Given the description of an element on the screen output the (x, y) to click on. 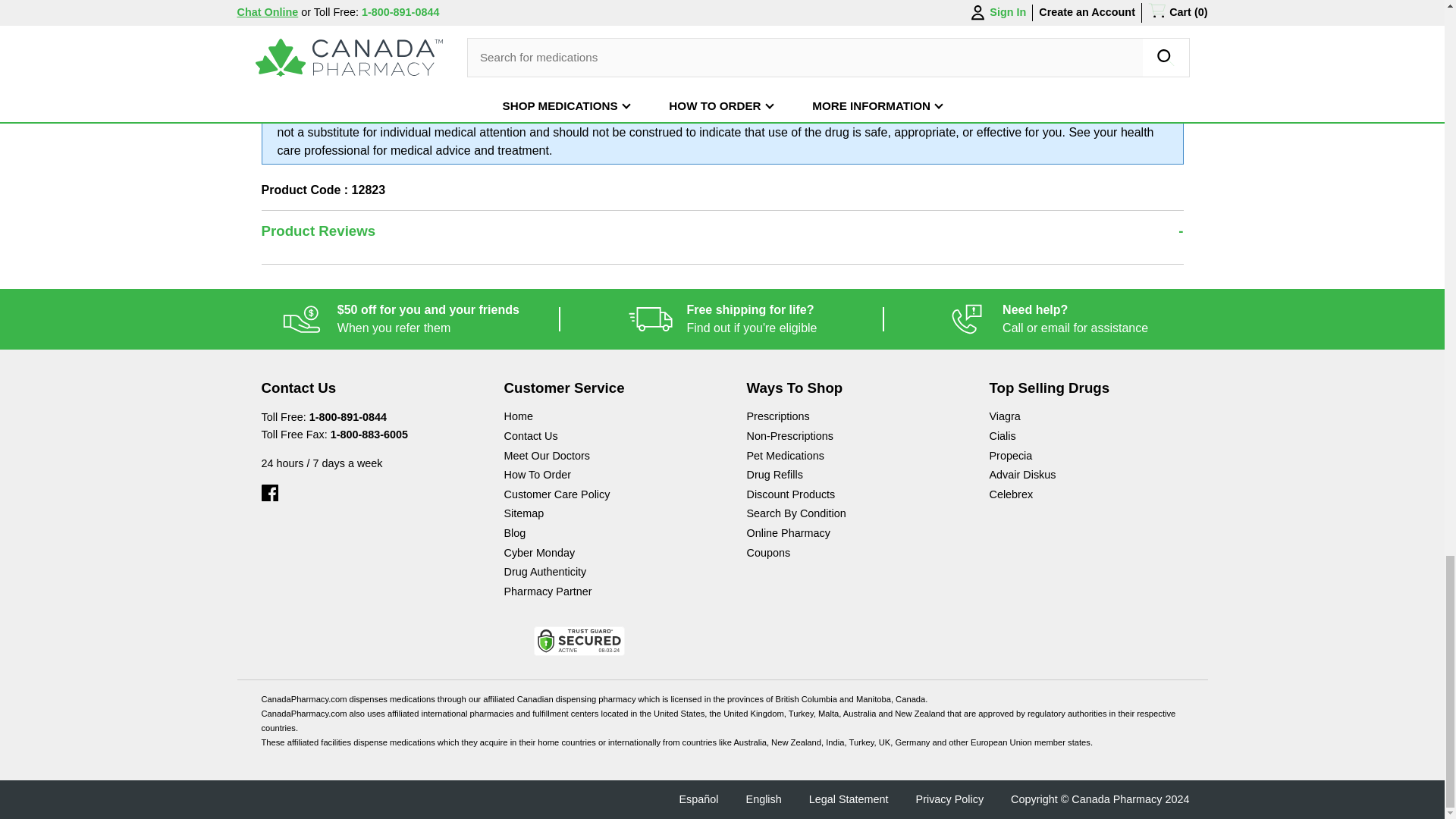
Home (600, 418)
Read More.... (1045, 319)
1-800-891-0844 (619, 15)
